Given the description of an element on the screen output the (x, y) to click on. 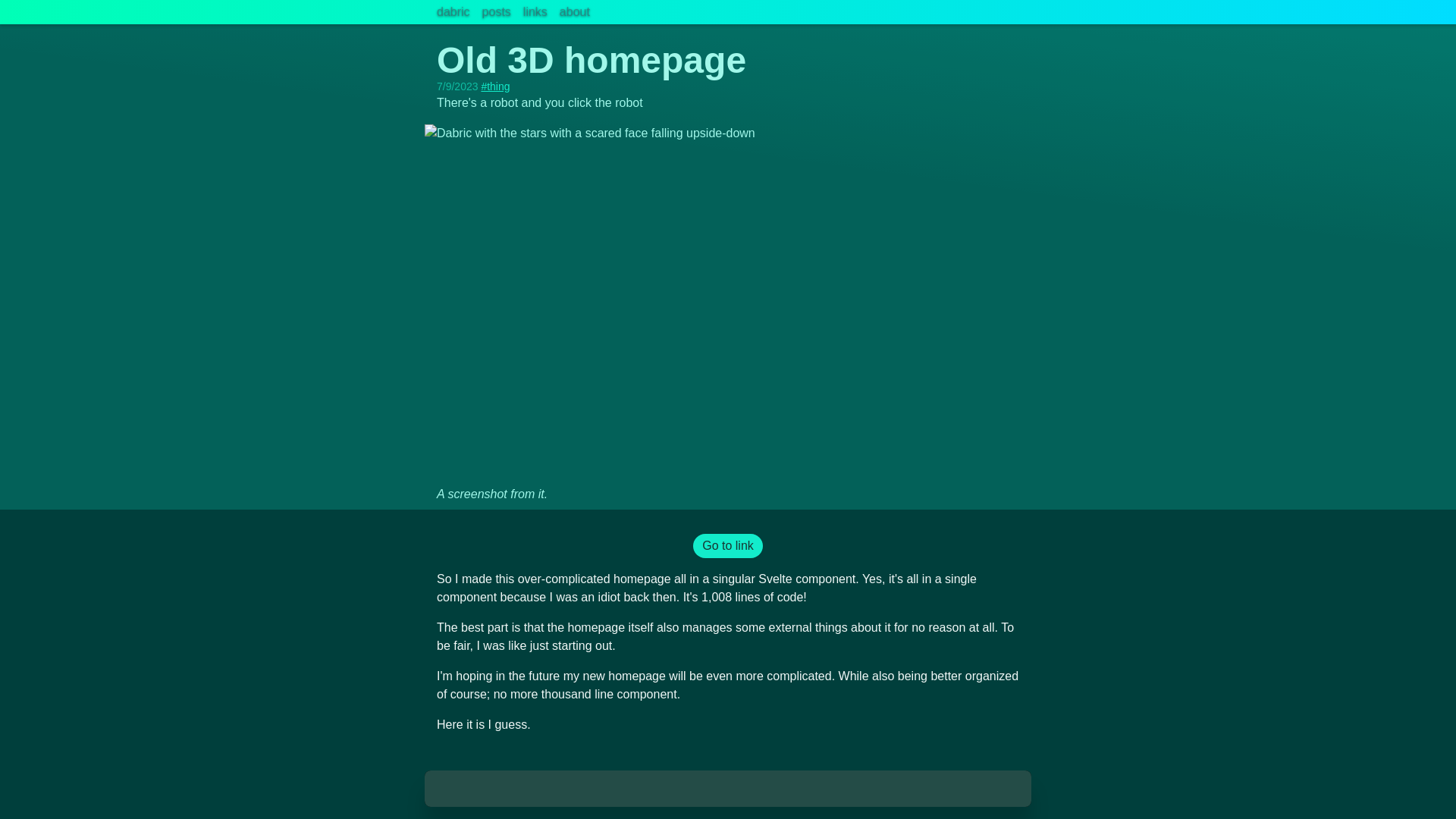
about (574, 12)
links (534, 12)
dabric (453, 12)
Go to link (727, 545)
posts (496, 12)
